Given the description of an element on the screen output the (x, y) to click on. 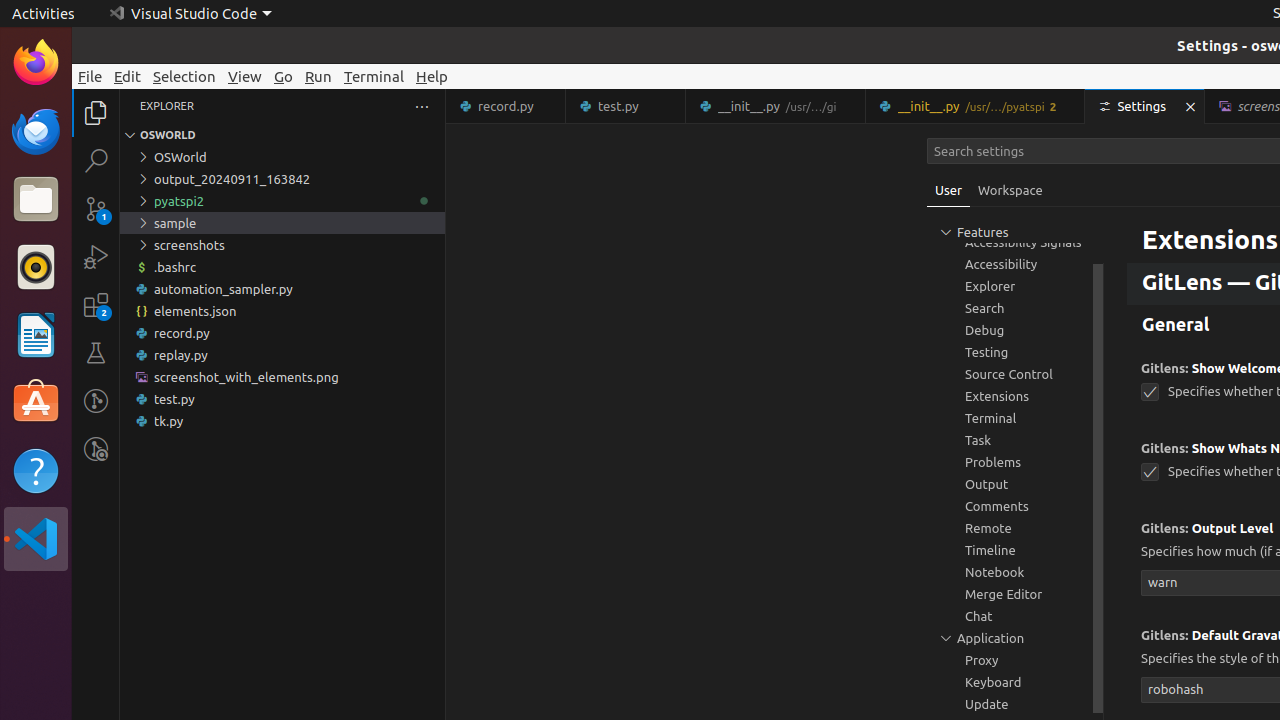
Application, group Element type: tree-item (1015, 638)
gitlens.showWhatsNewAfterUpgrades Element type: check-box (1150, 472)
Update, group Element type: tree-item (1015, 704)
Explorer (Ctrl+Shift+E) Element type: page-tab (96, 113)
